Given the description of an element on the screen output the (x, y) to click on. 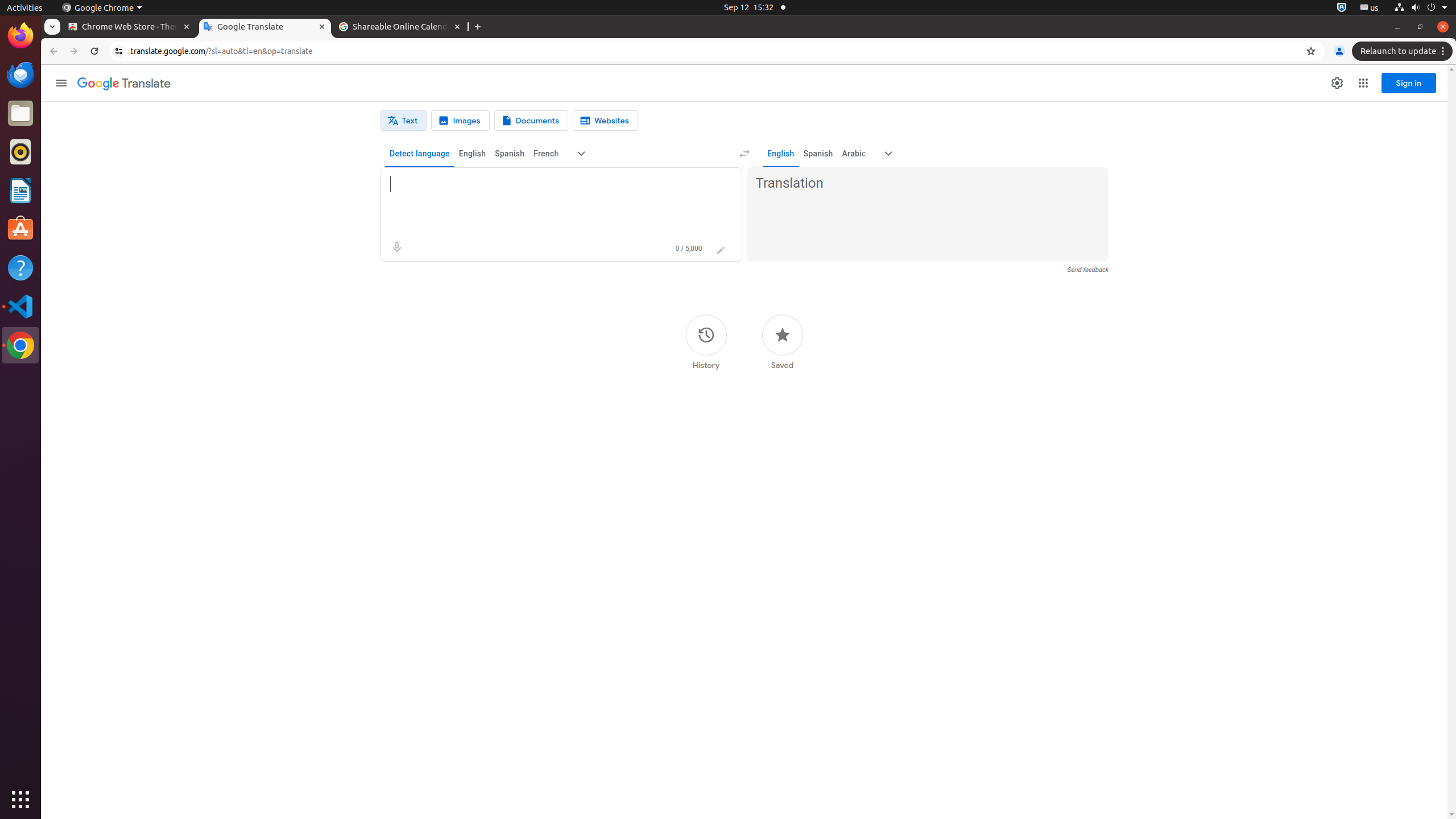
Text translation Element type: push-button (403, 120)
System Element type: menu (1420, 7)
Firefox Web Browser Element type: push-button (20, 35)
Google Chrome Element type: push-button (20, 344)
French Element type: page-tab (545, 153)
